Given the description of an element on the screen output the (x, y) to click on. 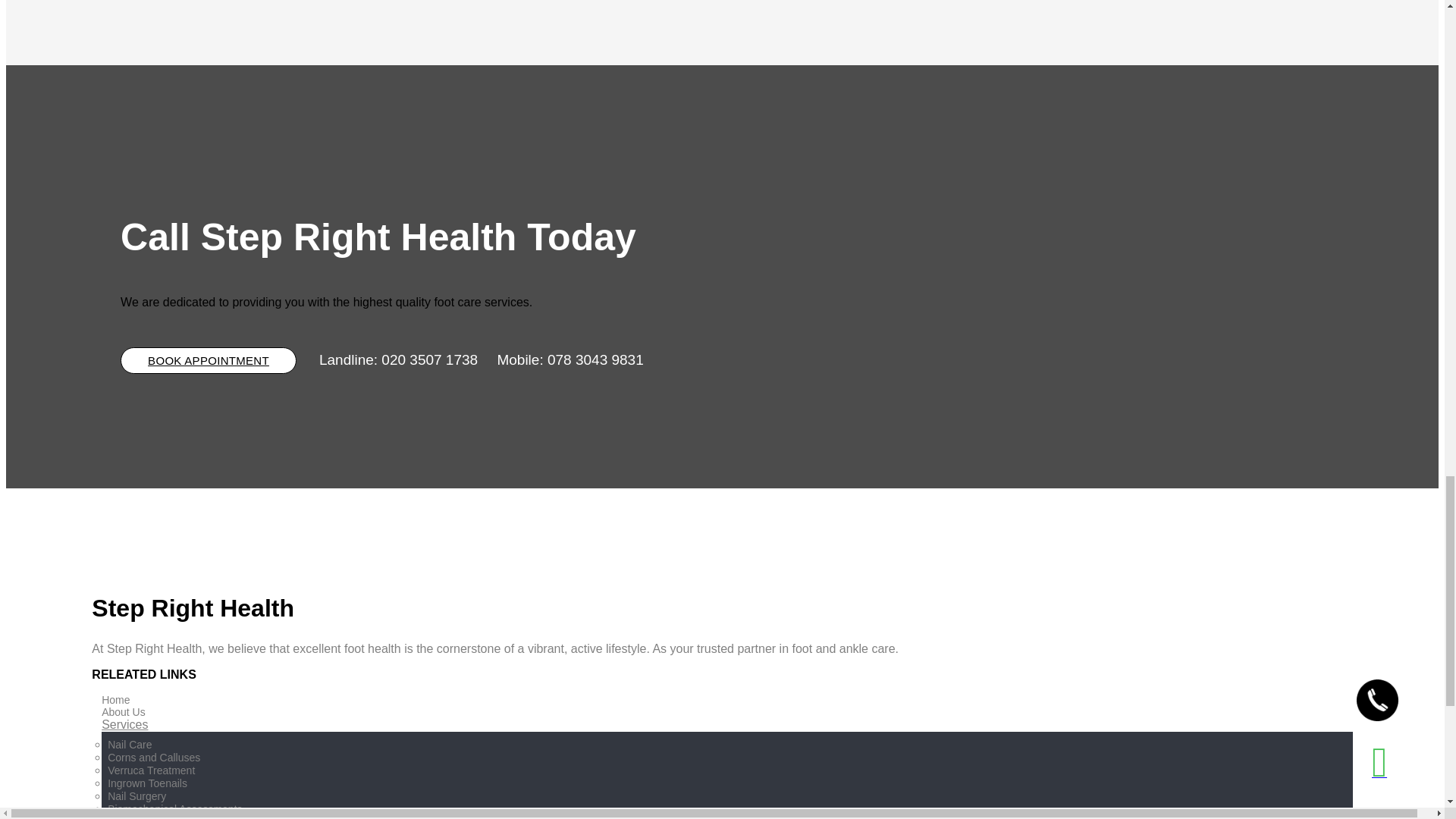
078 3043 9831 (595, 359)
020 3507 1738 (429, 359)
Services (124, 724)
